Given the description of an element on the screen output the (x, y) to click on. 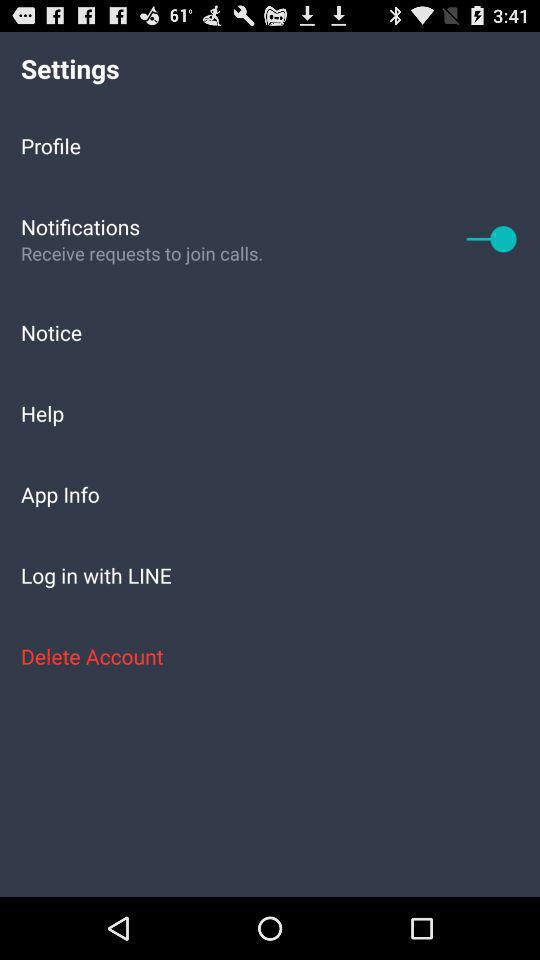
press the item above the log in with (270, 493)
